Given the description of an element on the screen output the (x, y) to click on. 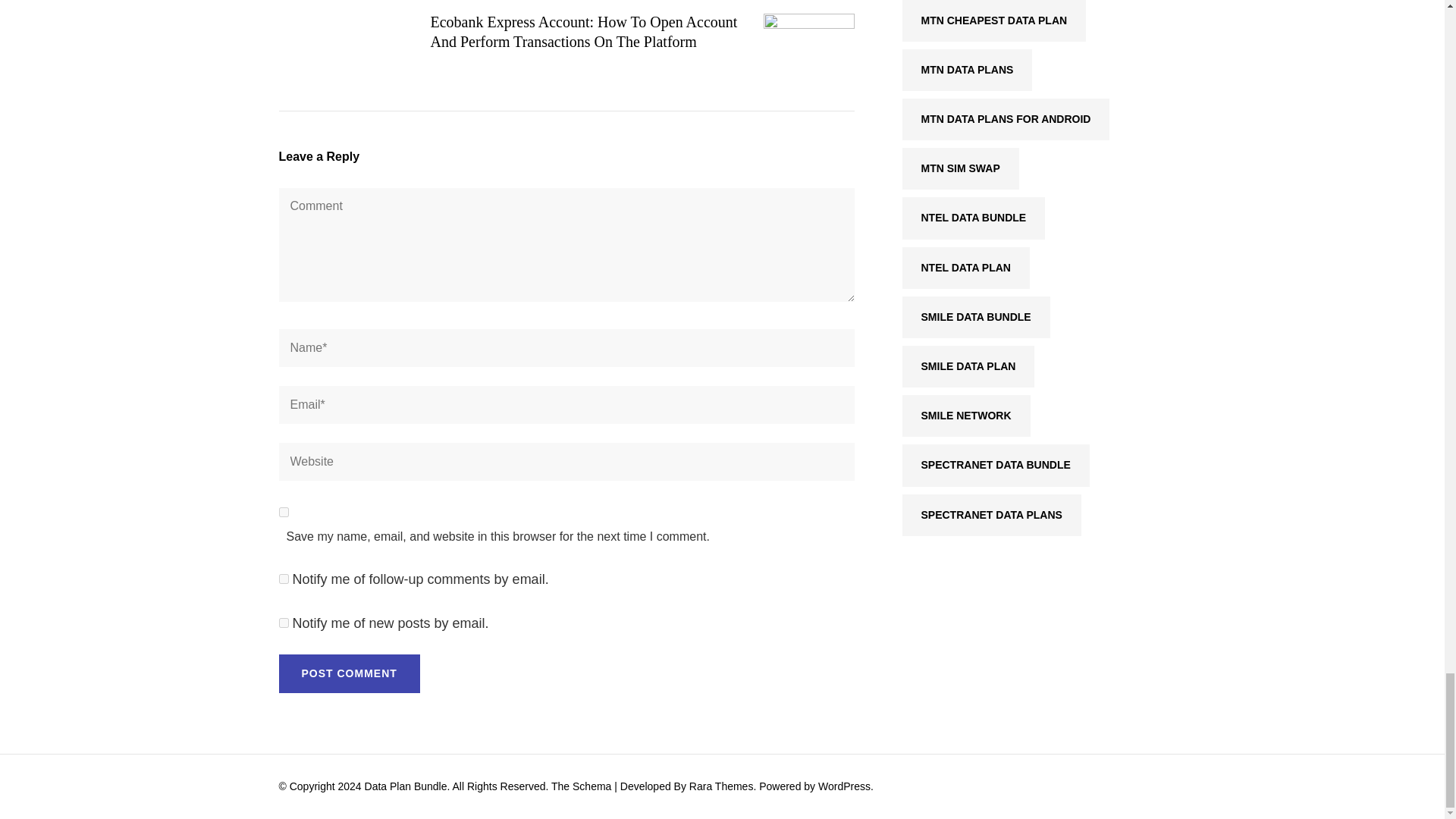
subscribe (283, 578)
subscribe (283, 623)
Post Comment (349, 673)
yes (283, 511)
